Given the description of an element on the screen output the (x, y) to click on. 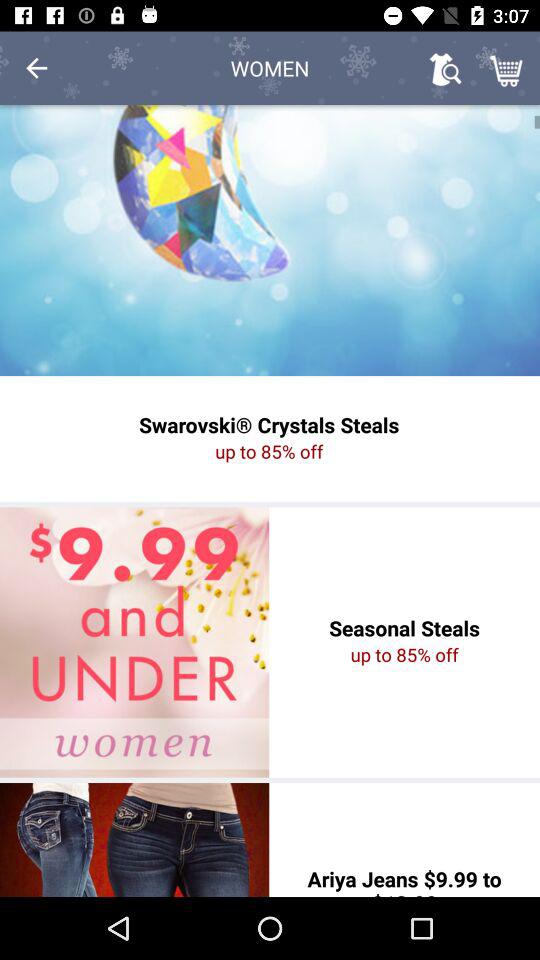
launch the icon next to women item (36, 68)
